Given the description of an element on the screen output the (x, y) to click on. 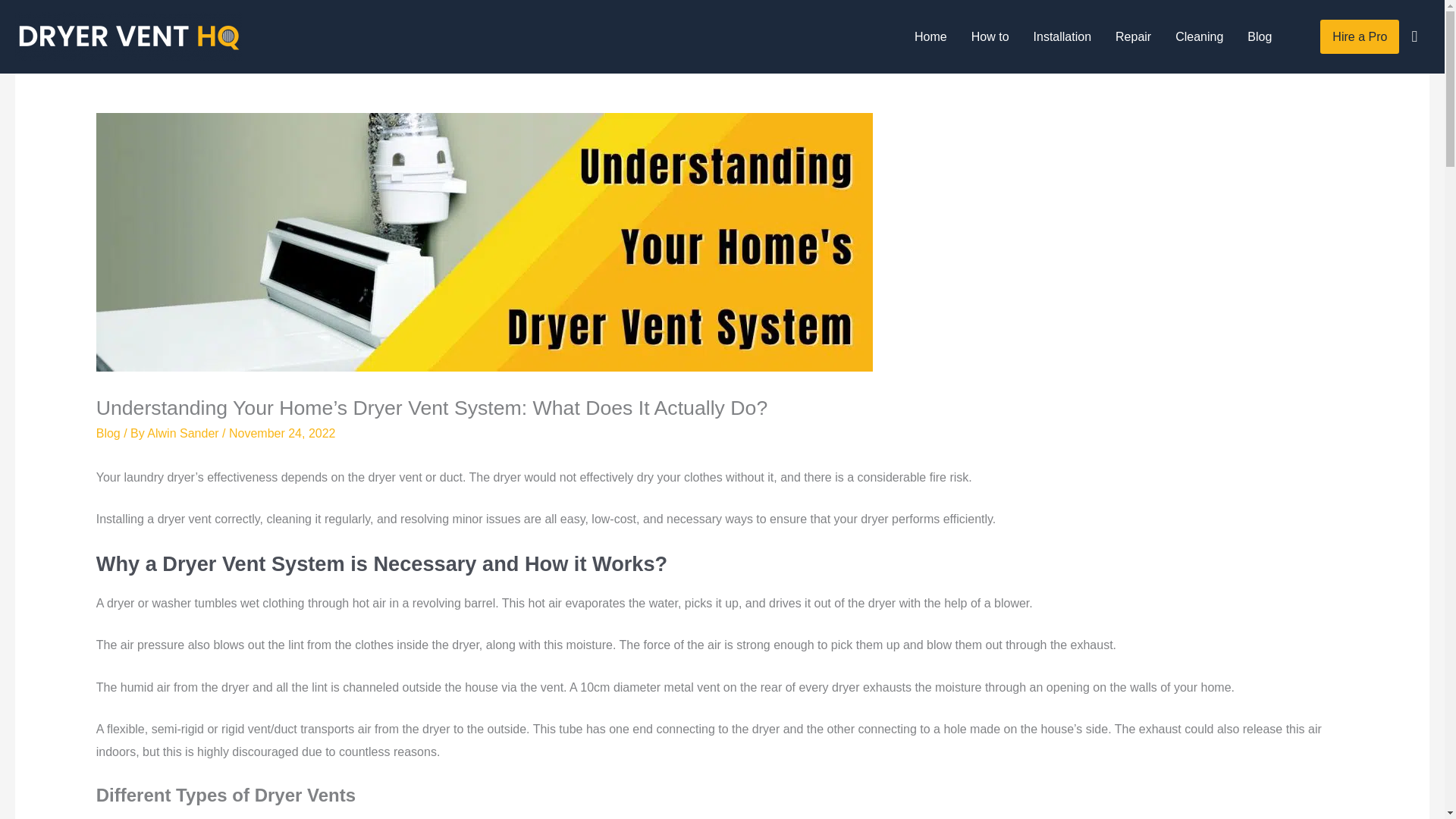
Hire a Pro (1359, 36)
How to (990, 36)
Blog (1259, 36)
Home (930, 36)
Repair (1133, 36)
Installation (1062, 36)
View all posts by Alwin Sander (184, 432)
Cleaning (1198, 36)
Blog (108, 432)
Alwin Sander (184, 432)
